Given the description of an element on the screen output the (x, y) to click on. 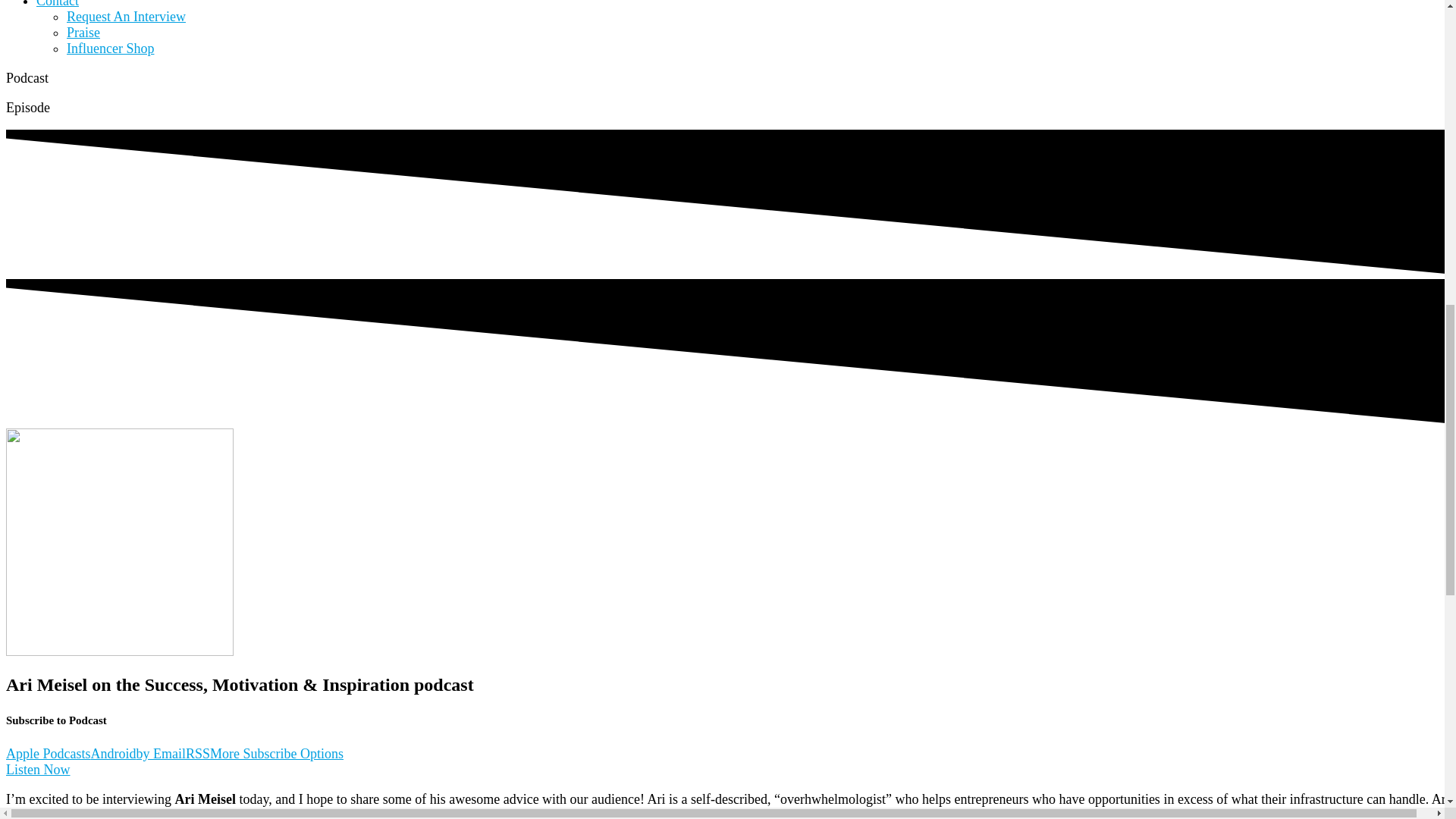
Subscribe on Apple Podcasts (47, 753)
Subscribe by Email (161, 753)
More Subscribe Options (276, 753)
Subscribe via RSS (197, 753)
Subscribe on Android (113, 753)
